Given the description of an element on the screen output the (x, y) to click on. 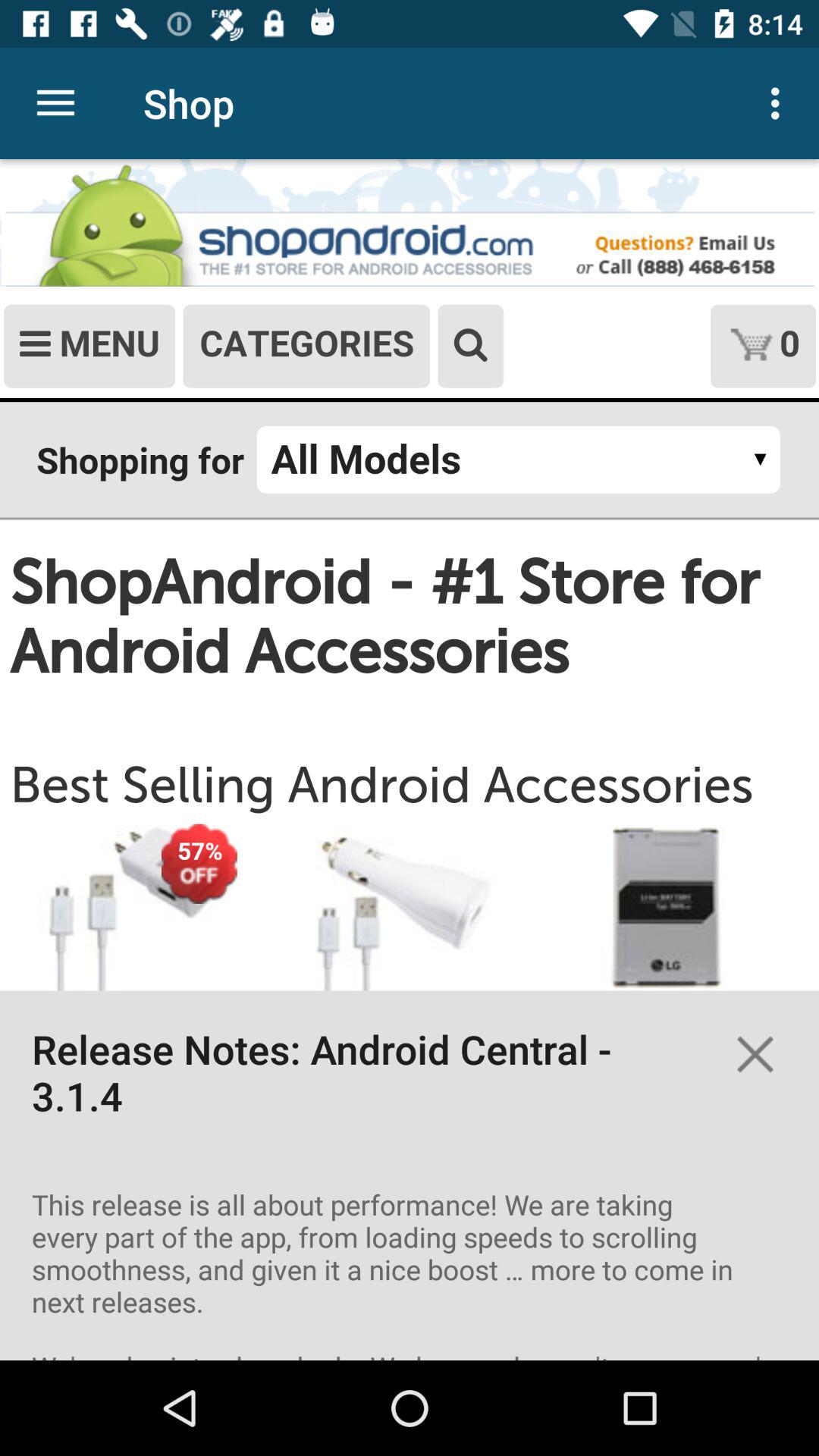
close this pop-up (755, 1054)
